Given the description of an element on the screen output the (x, y) to click on. 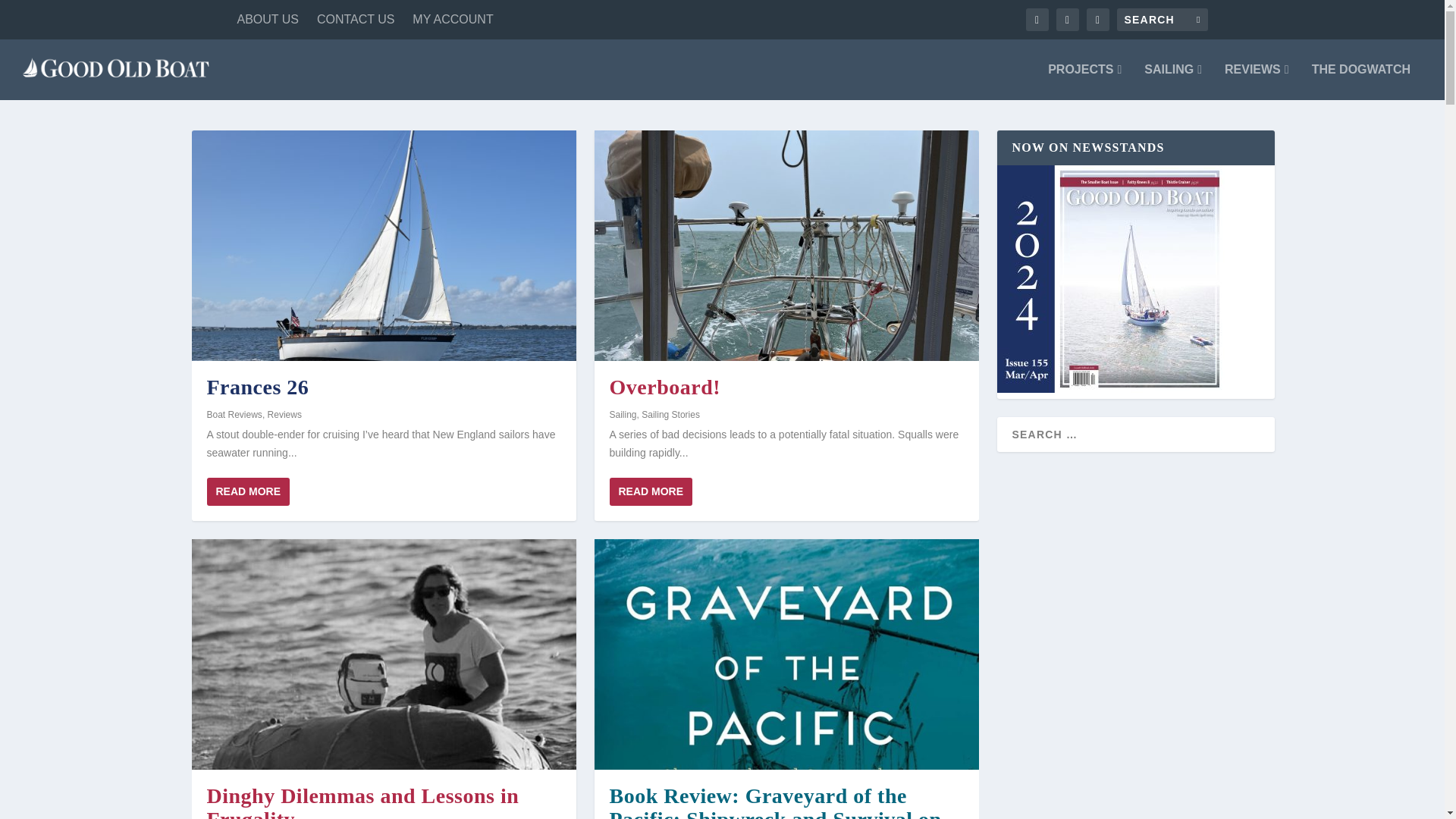
Search for: (1161, 19)
MY ACCOUNT (452, 19)
PROJECTS (1084, 81)
Dinghy Dilemmas and Lessons in Frugality (382, 653)
Frances 26 (382, 245)
THE DOGWATCH (1360, 81)
CONTACT US (355, 19)
SAILING (1173, 81)
ABOUT US (266, 19)
REVIEWS (1256, 81)
